Given the description of an element on the screen output the (x, y) to click on. 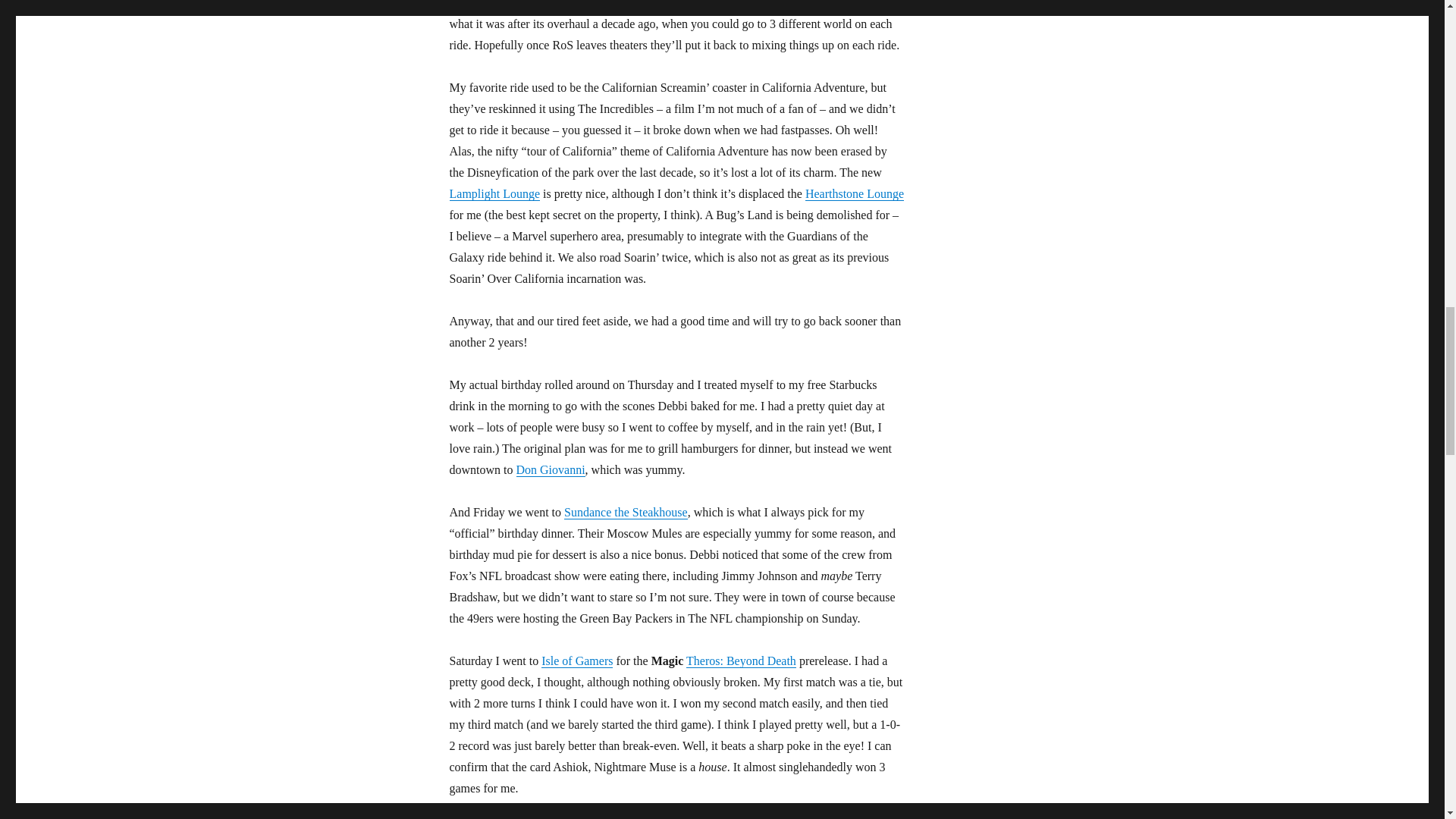
Don Giovanni (550, 469)
Sundance the Steakhouse (625, 512)
Hearthstone Lounge (854, 193)
Theros: Beyond Death (740, 660)
Isle of Gamers (576, 660)
Lamplight Lounge (494, 193)
